Given the description of an element on the screen output the (x, y) to click on. 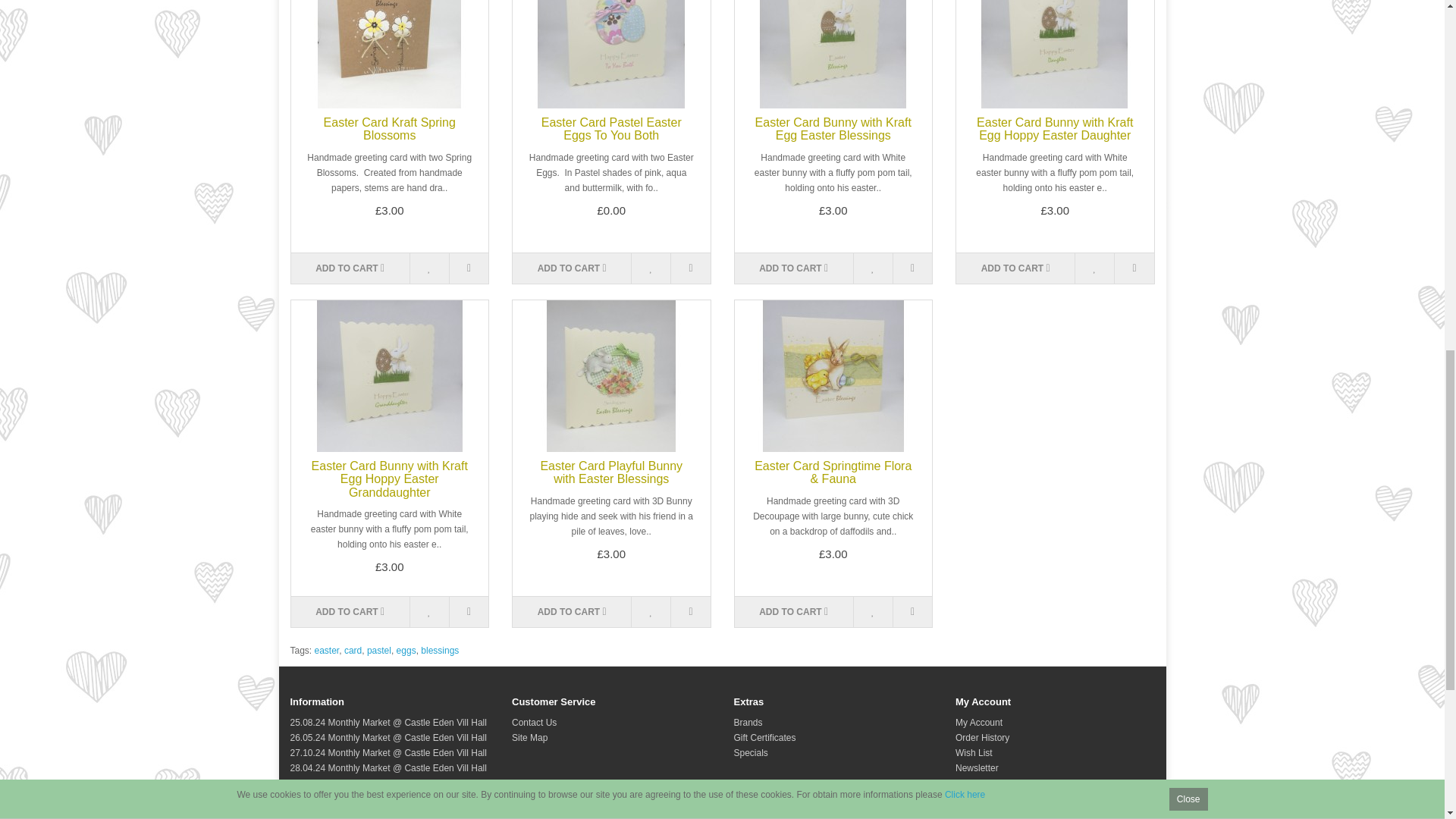
Easter Card Bunny with Kraft Egg Hoppy Easter Daughter (1054, 54)
Easter Card Pastel Easter Eggs To You Both (611, 54)
Easter Card Kraft Spring Blossoms (389, 54)
Easter Card Bunny with Kraft Egg Easter Blessings (832, 54)
